Given the description of an element on the screen output the (x, y) to click on. 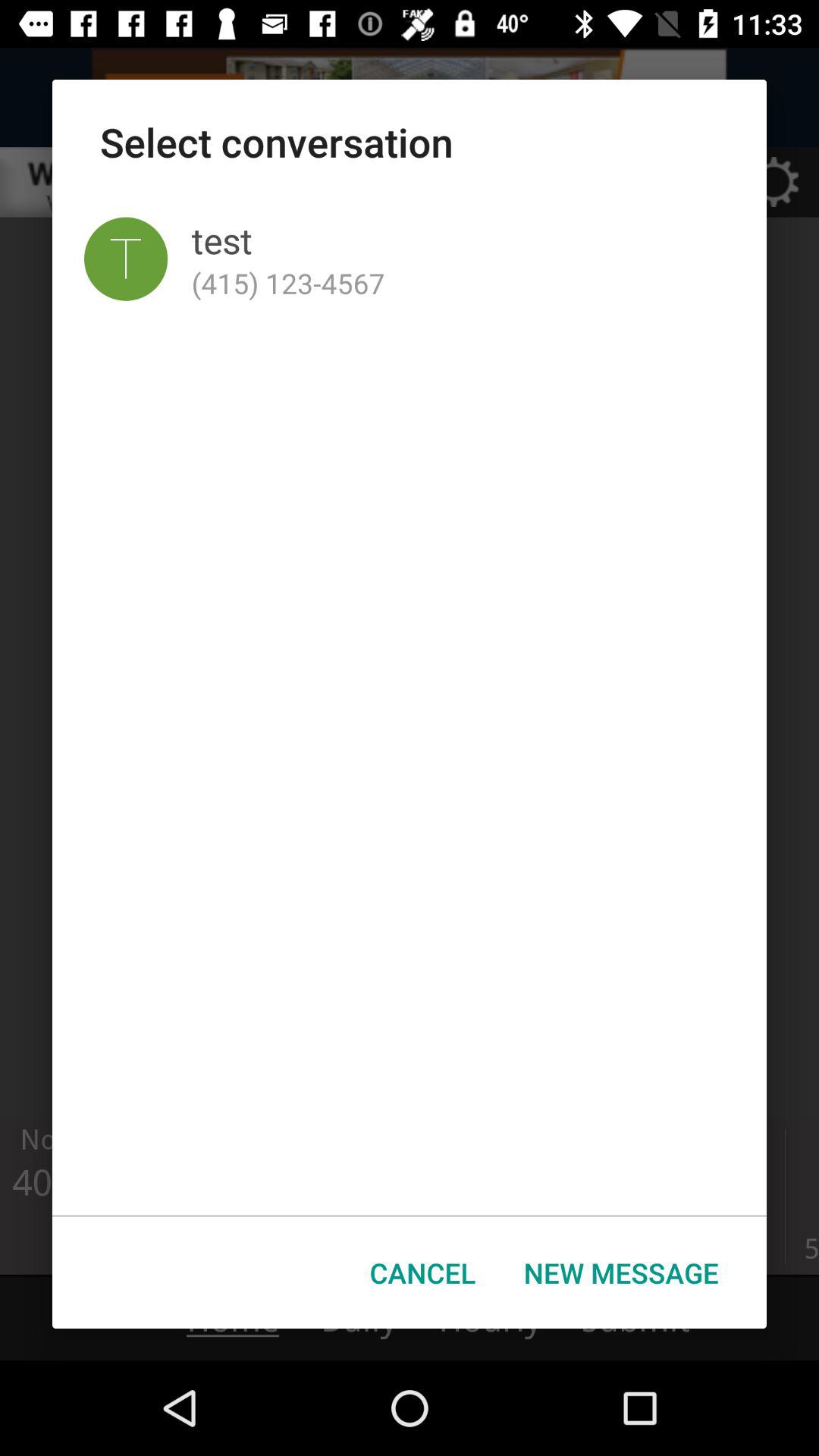
press the icon to the left of test item (125, 258)
